Given the description of an element on the screen output the (x, y) to click on. 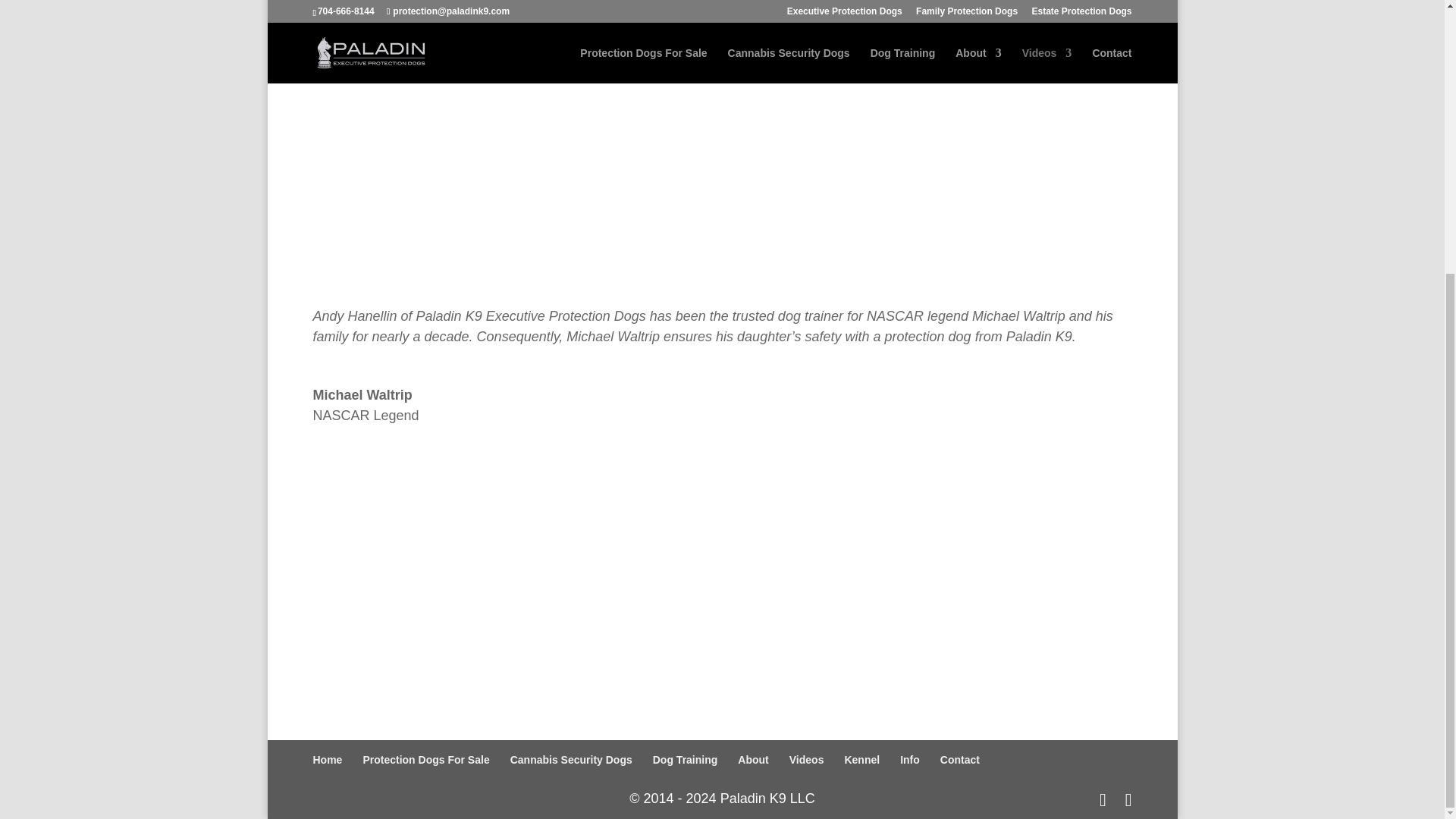
Cannabis Security Dogs (571, 759)
Contact (959, 759)
Protection Dogs For Sale (425, 759)
Info (909, 759)
Dog Training (684, 759)
About (753, 759)
Kennel (861, 759)
Request More Information (721, 660)
Videos (806, 759)
